Given the description of an element on the screen output the (x, y) to click on. 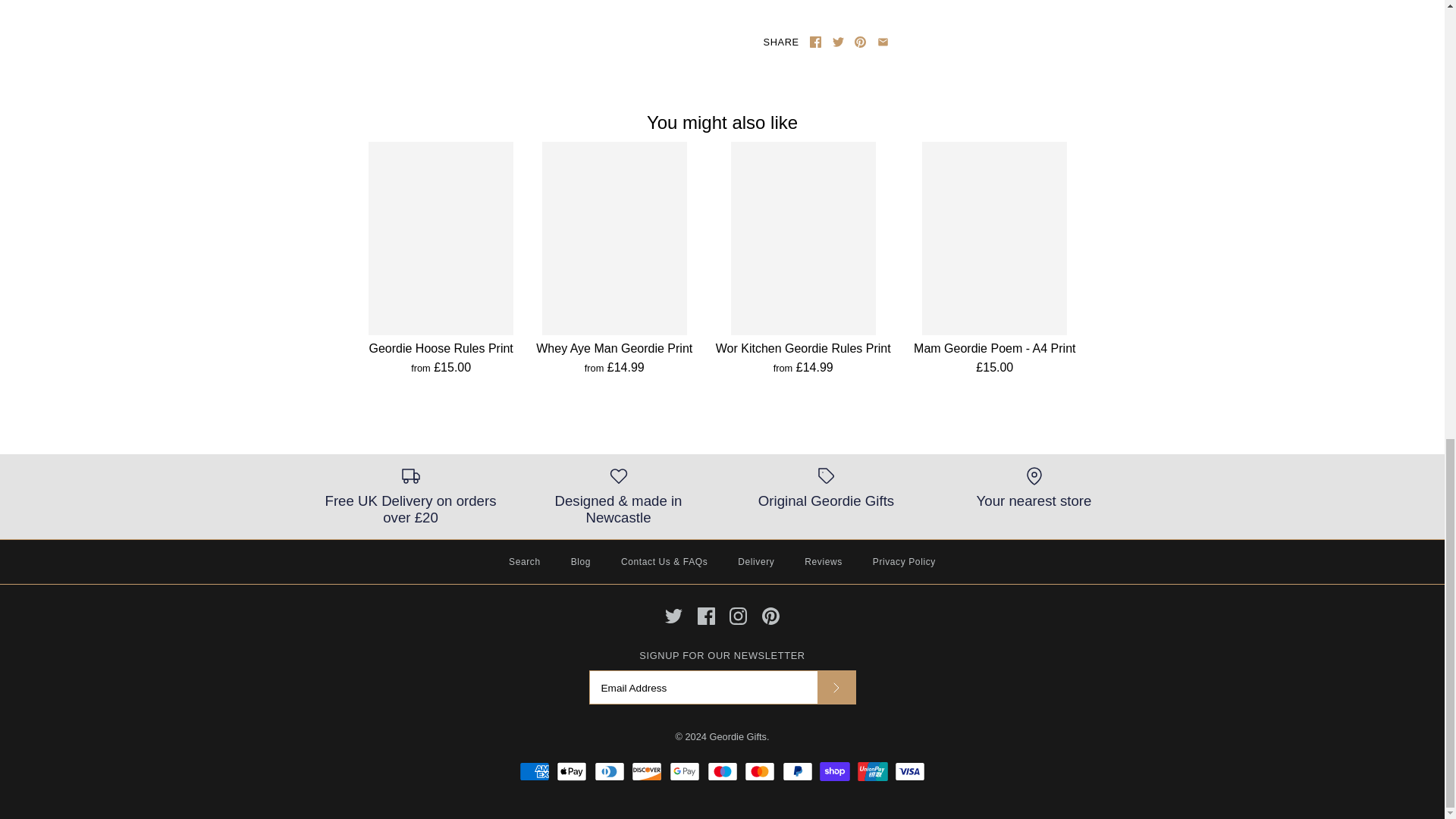
Twitter (673, 615)
American Express (534, 771)
Share on Facebook (815, 41)
Share using email (882, 41)
Pinterest (769, 615)
Share on Twitter (838, 41)
Pinterest (860, 41)
Facebook (815, 41)
Facebook (705, 615)
Twitter (838, 41)
